Given the description of an element on the screen output the (x, y) to click on. 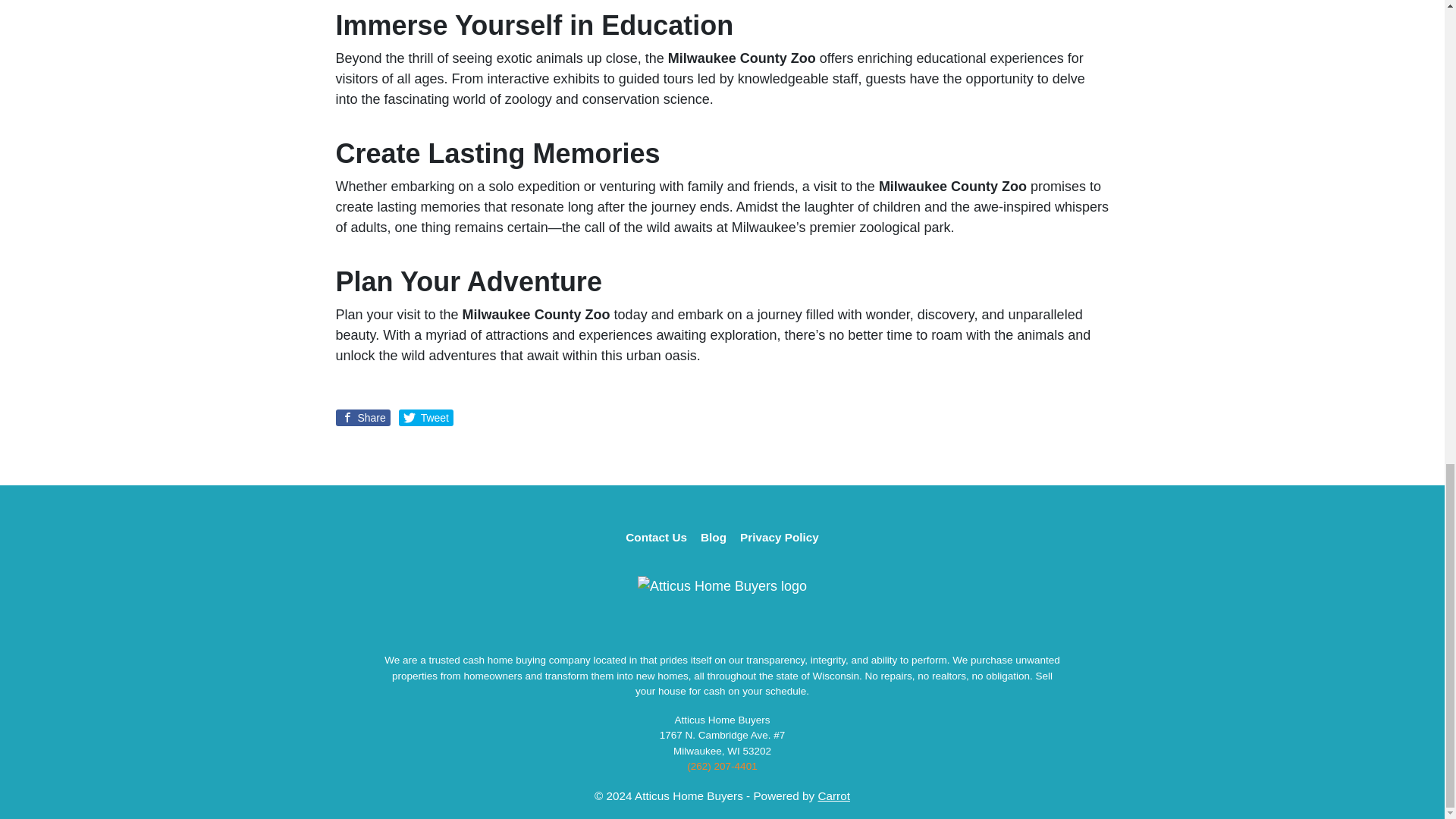
Twitter (646, 631)
Tweet (425, 417)
Pinterest (747, 631)
Privacy Policy (779, 537)
Zillow (772, 631)
YouTube (696, 631)
Houzz (798, 631)
LinkedIn (721, 631)
Carrot (833, 795)
Contact Us (656, 537)
Blog (713, 537)
Share (362, 417)
Facebook (671, 631)
Share on Twitter (425, 417)
Share on Facebook (362, 417)
